Given the description of an element on the screen output the (x, y) to click on. 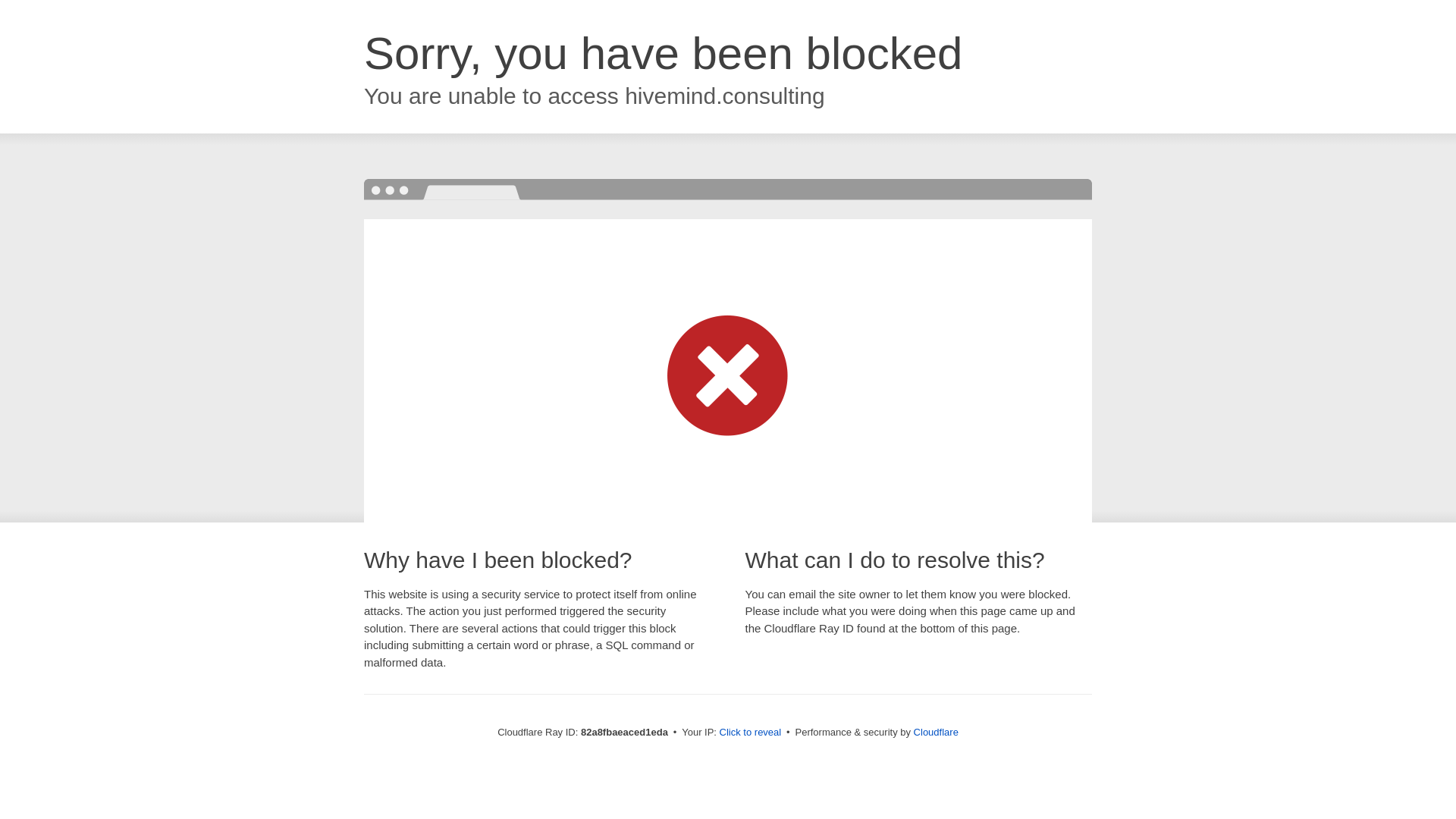
Cloudflare Element type: text (935, 731)
Click to reveal Element type: text (750, 732)
